Given the description of an element on the screen output the (x, y) to click on. 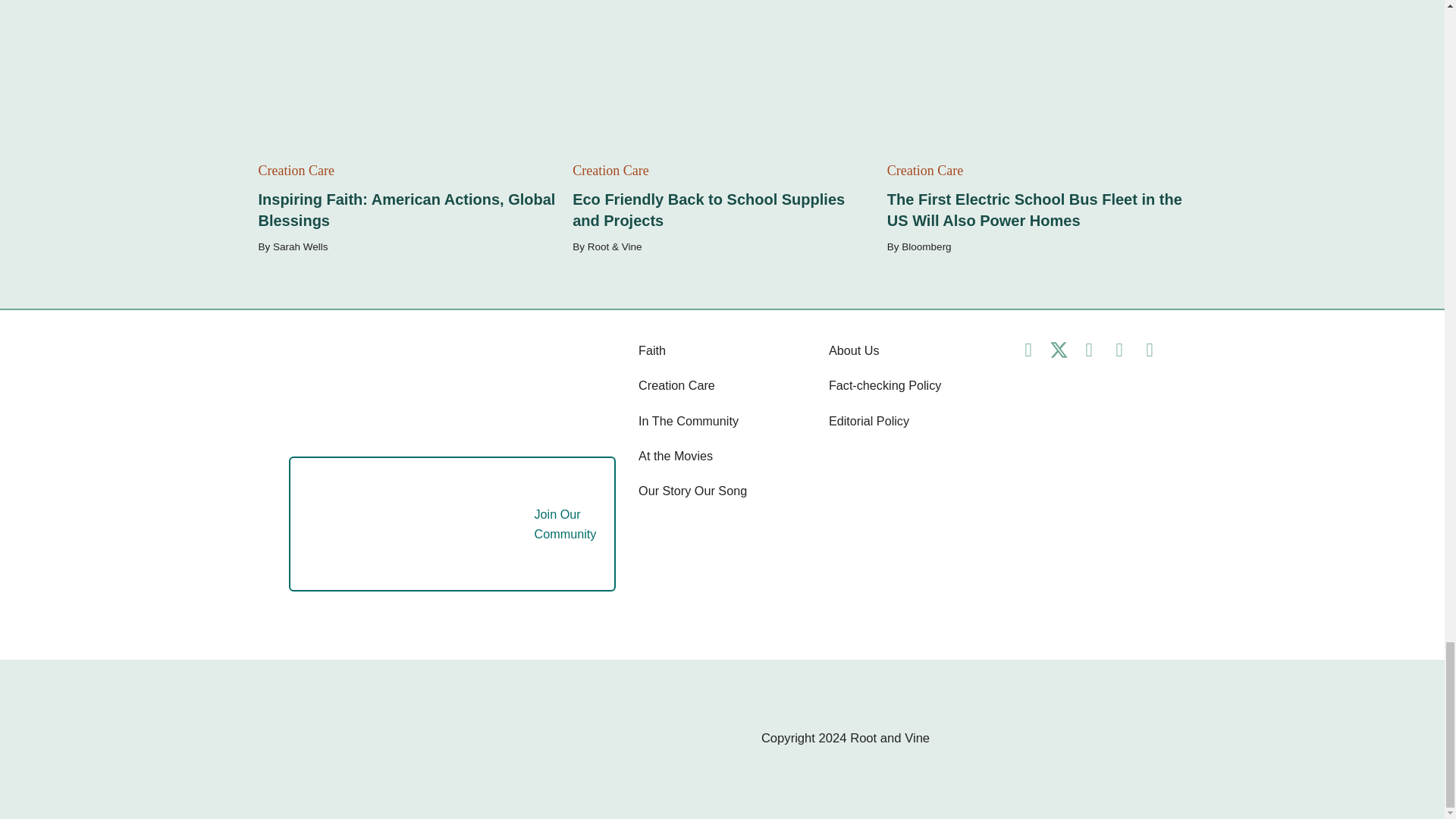
Our Story Our Song (692, 490)
Pinterest (1119, 349)
Faith (652, 350)
Facebook (1028, 349)
Join Our Community (436, 523)
Creation Care (676, 385)
Pinterest (1119, 349)
Instagram (1089, 349)
